Given the description of an element on the screen output the (x, y) to click on. 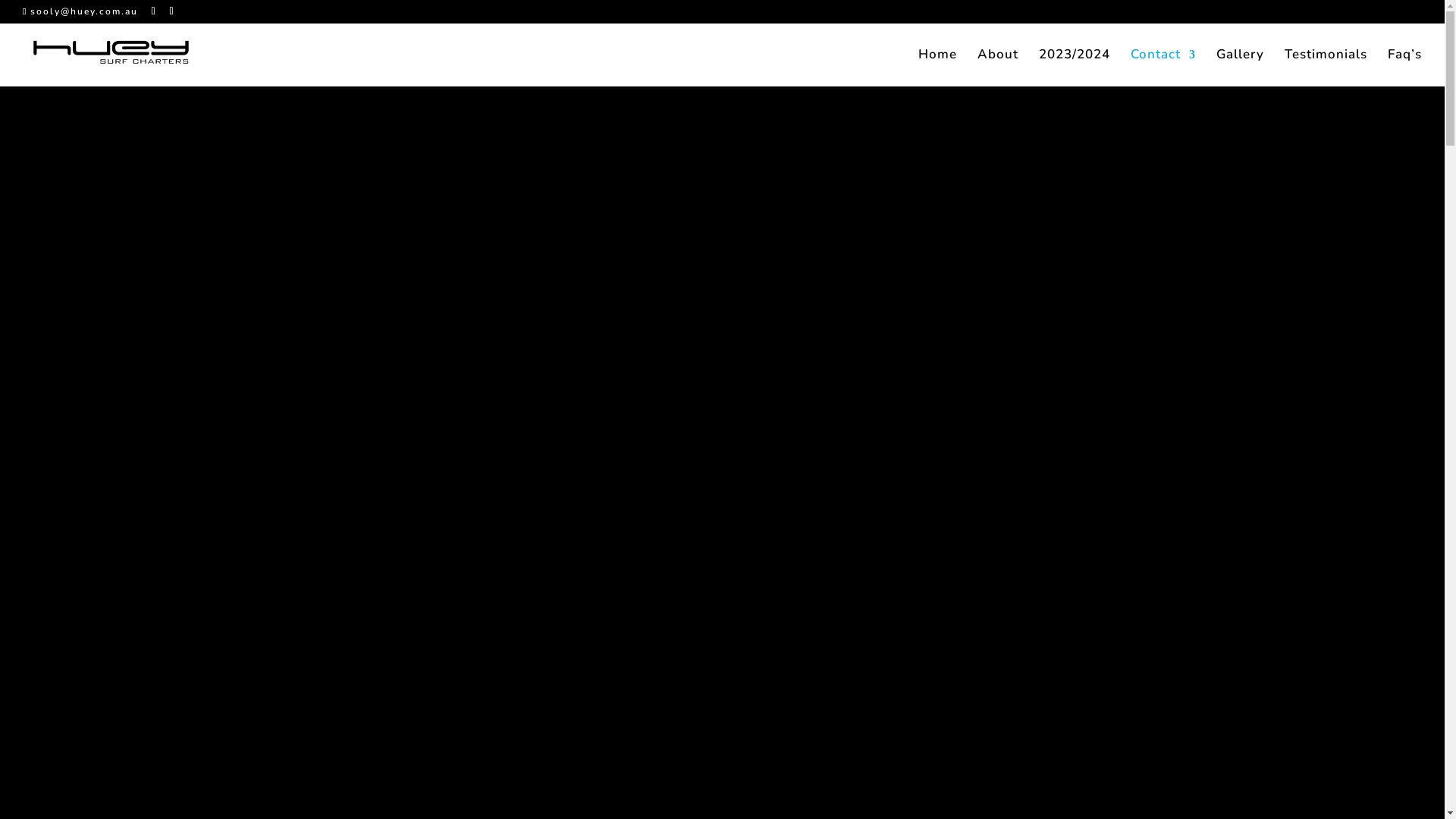
2023/2024 Element type: text (1074, 67)
Gallery Element type: text (1240, 67)
About Element type: text (997, 67)
Testimonials Element type: text (1325, 67)
Contact Element type: text (1162, 67)
sooly@huey.com.au Element type: text (80, 11)
Home Element type: text (937, 67)
